Given the description of an element on the screen output the (x, y) to click on. 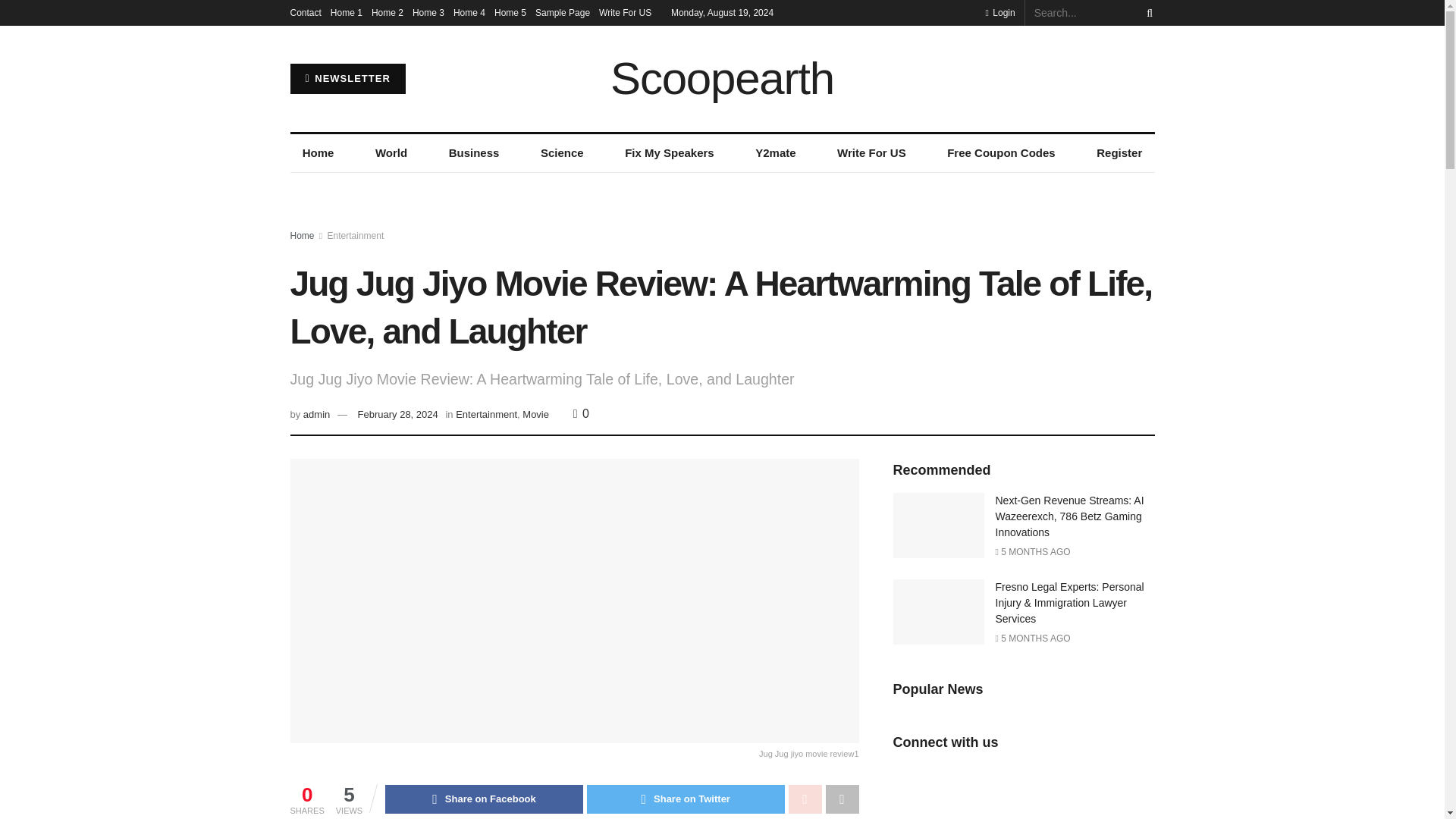
Scoopearth (722, 78)
Login (999, 12)
Sample Page (562, 12)
Write For US (624, 12)
World (391, 152)
Home 3 (428, 12)
Fix My Speakers (669, 152)
Contact (304, 12)
Home (301, 235)
Home (317, 152)
